Given the description of an element on the screen output the (x, y) to click on. 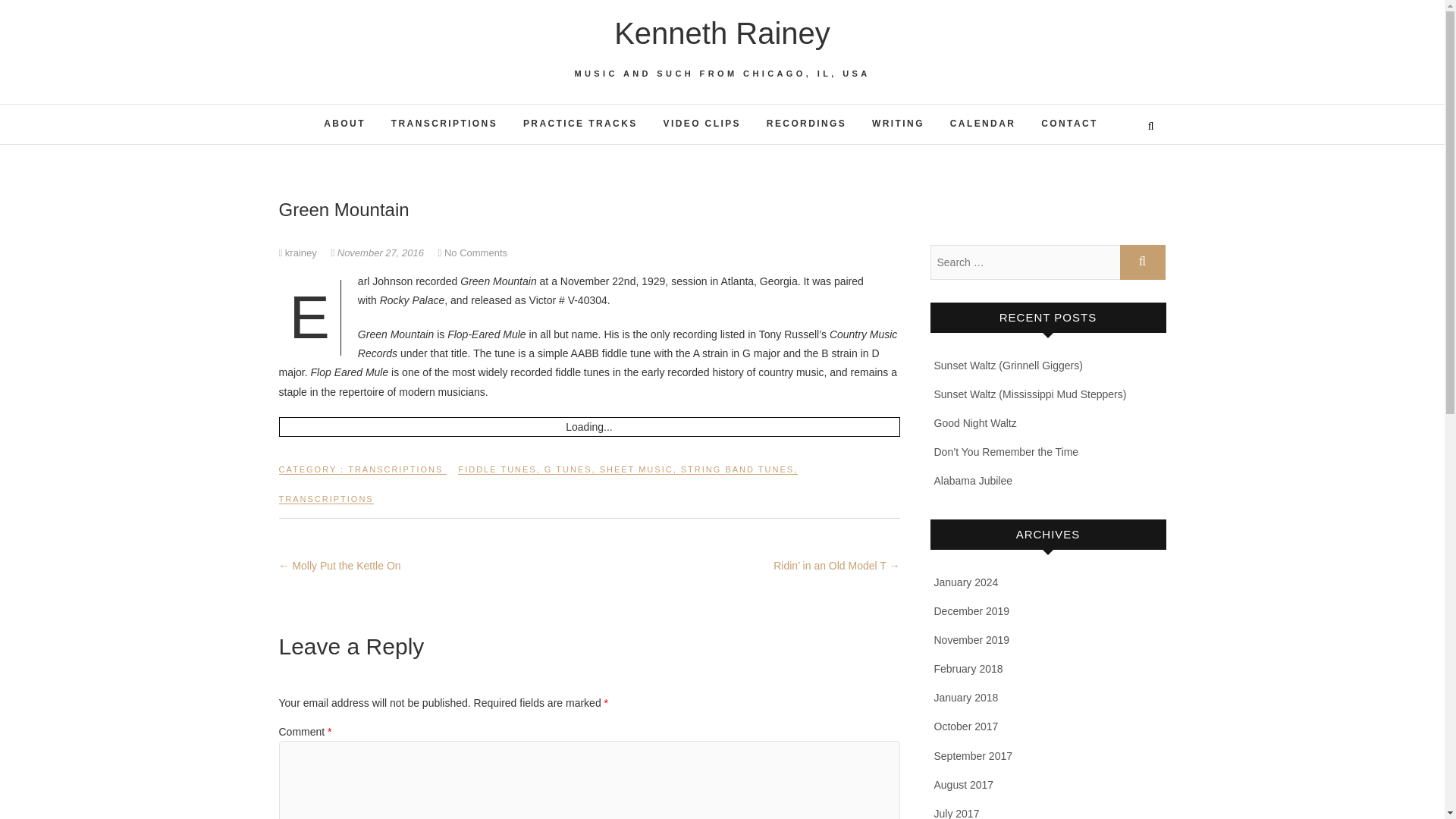
11:00 am (378, 252)
SHEET MUSIC (635, 475)
WRITING (898, 124)
December 2019 (972, 611)
No Comments (475, 252)
October 2017 (966, 726)
STRING BAND TUNES (737, 475)
Good Night Waltz (975, 422)
RECORDINGS (806, 124)
February 2018 (968, 668)
